Given the description of an element on the screen output the (x, y) to click on. 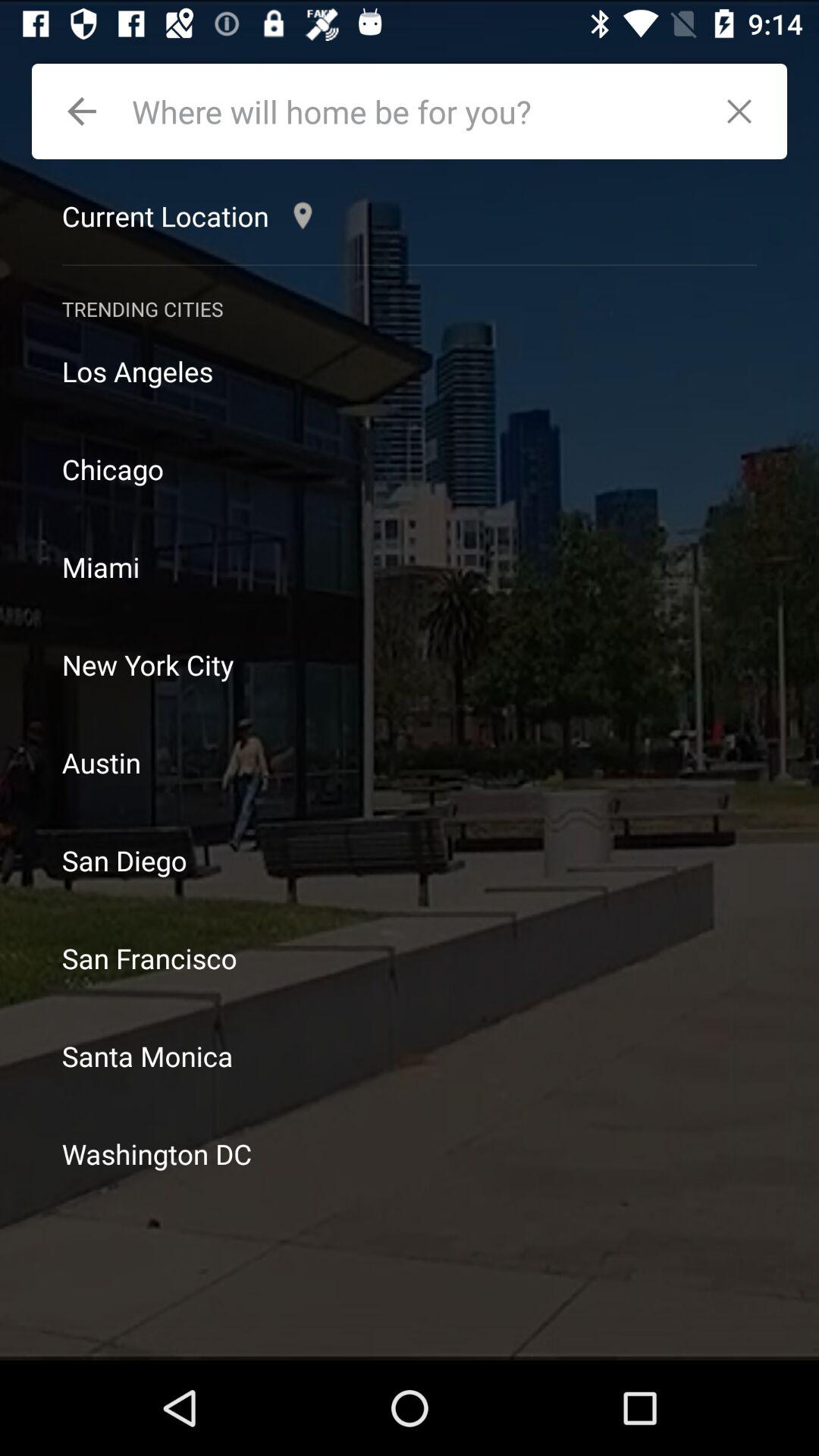
click to close (747, 111)
